Given the description of an element on the screen output the (x, y) to click on. 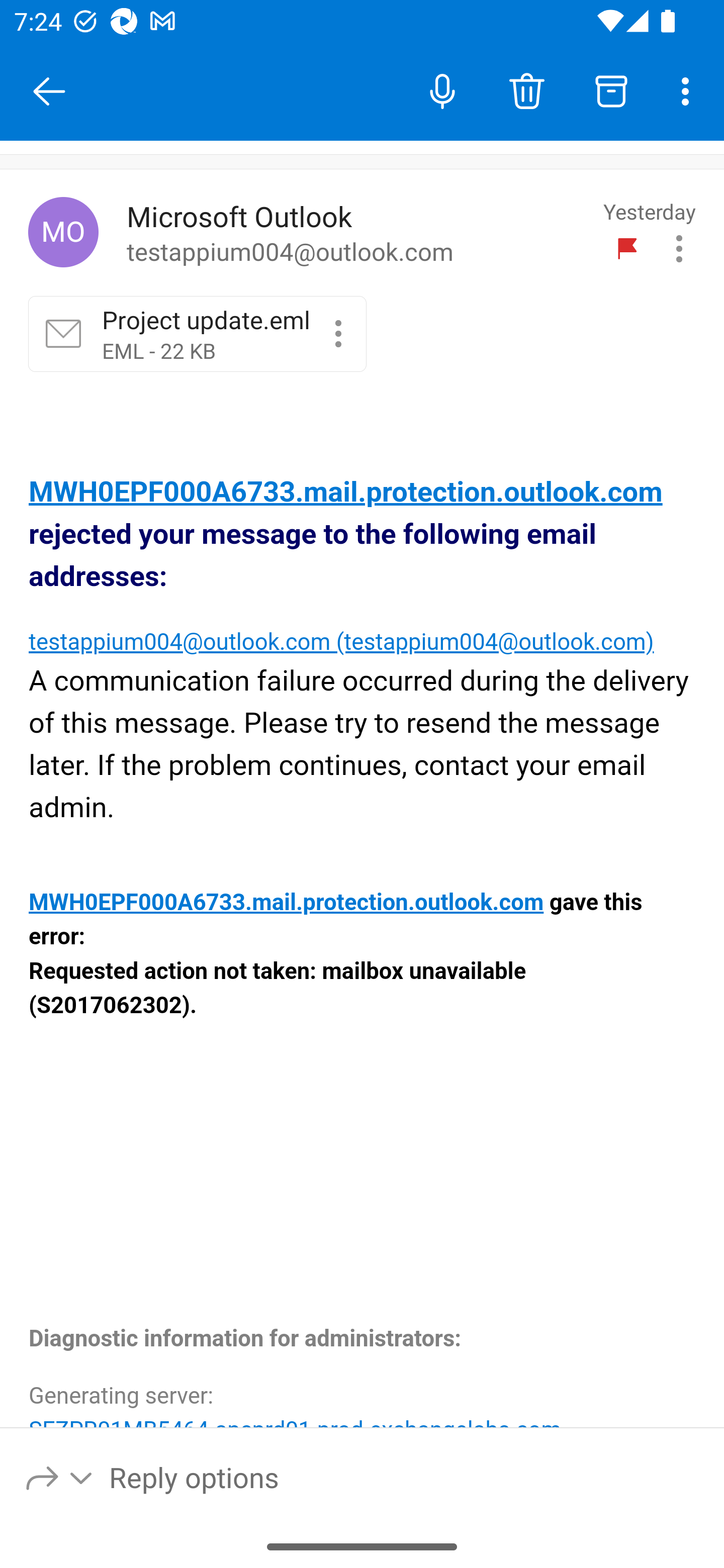
Close (49, 91)
Delete (526, 90)
Archive (611, 90)
More options (688, 90)
Microsoft Outlook
to testappium004@outlook.com (357, 232)
Message actions (679, 248)
Project update.eml (338, 333)
MWH0EPF000A6733.mail.protection.outlook.com (345, 492)
MWH0EPF000A6733.mail.protection.outlook.com (285, 903)
Reply options (59, 1476)
